Given the description of an element on the screen output the (x, y) to click on. 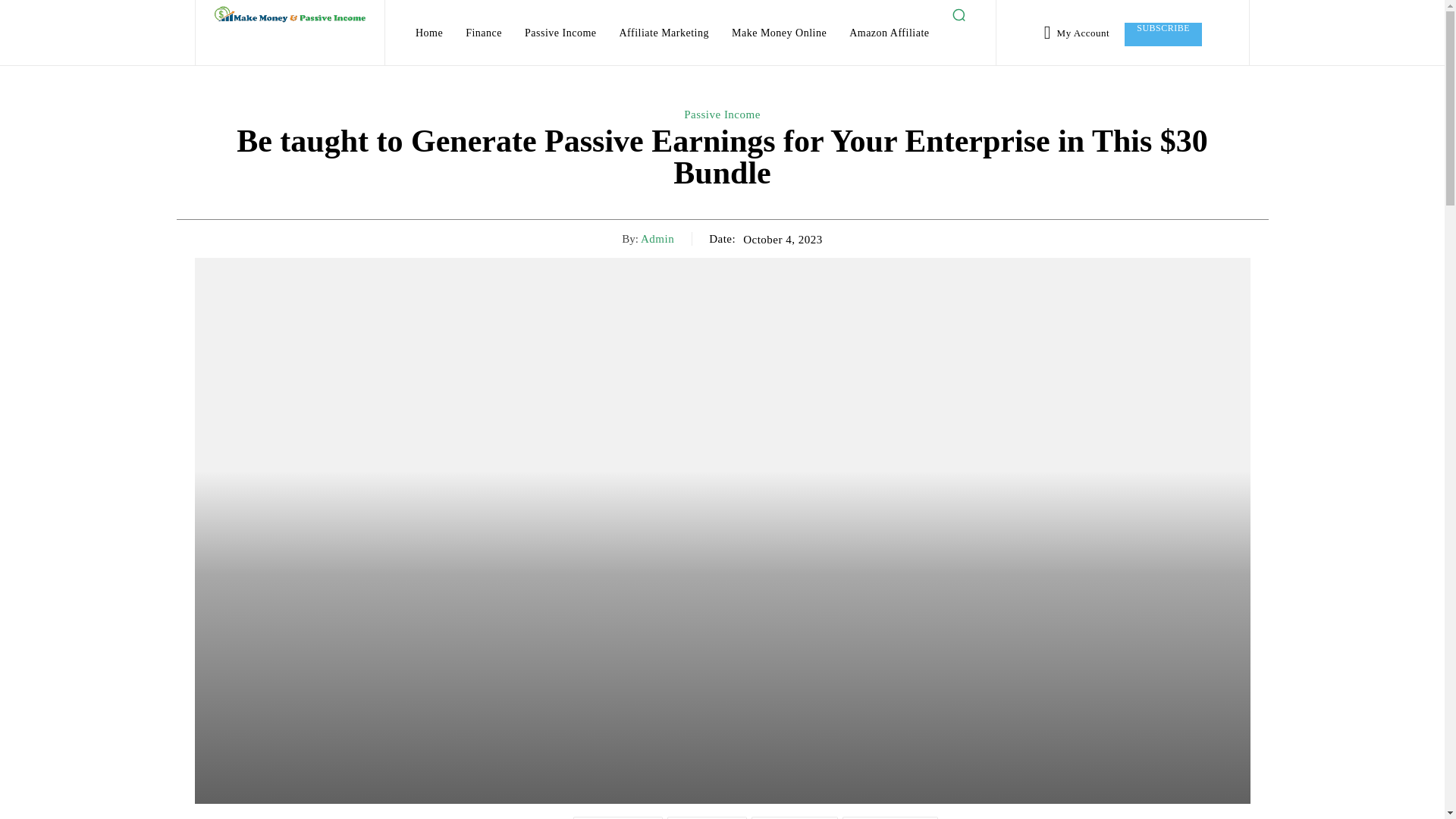
Twitter (706, 817)
SUBSCRIBE (1163, 33)
Facebook (617, 817)
Pinterest (794, 817)
Affiliate Marketing (663, 33)
Amazon Affiliate (888, 33)
WhatsApp (890, 817)
Make Money Online (778, 33)
Passive Income (560, 33)
